Given the description of an element on the screen output the (x, y) to click on. 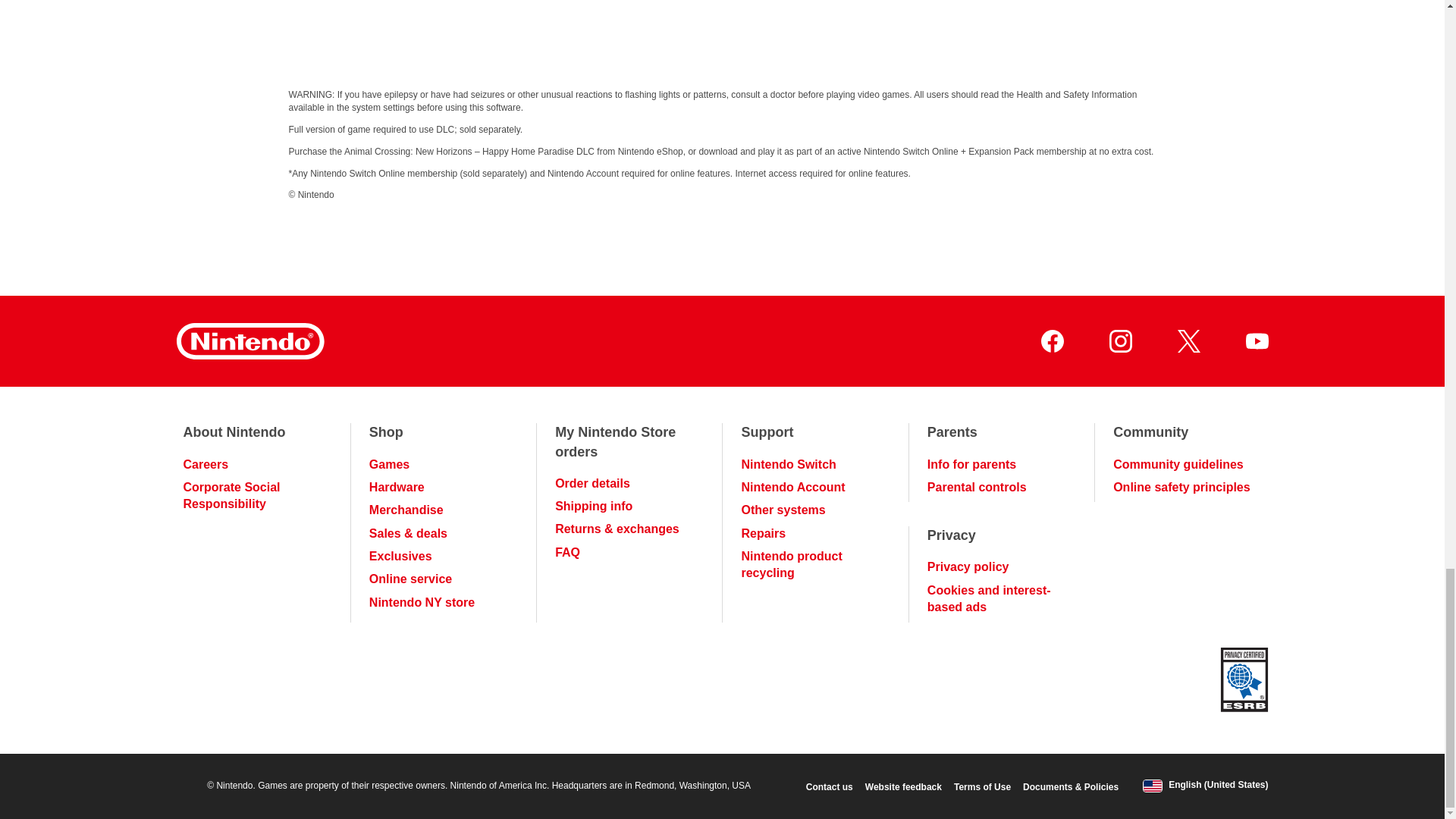
Nintendo Homepage (249, 340)
Nintendo on YouTube (1256, 341)
Nintendo on Twitter (1187, 341)
Nintendo on Instagram (1119, 341)
Nintendo on Facebook (1051, 341)
